Given the description of an element on the screen output the (x, y) to click on. 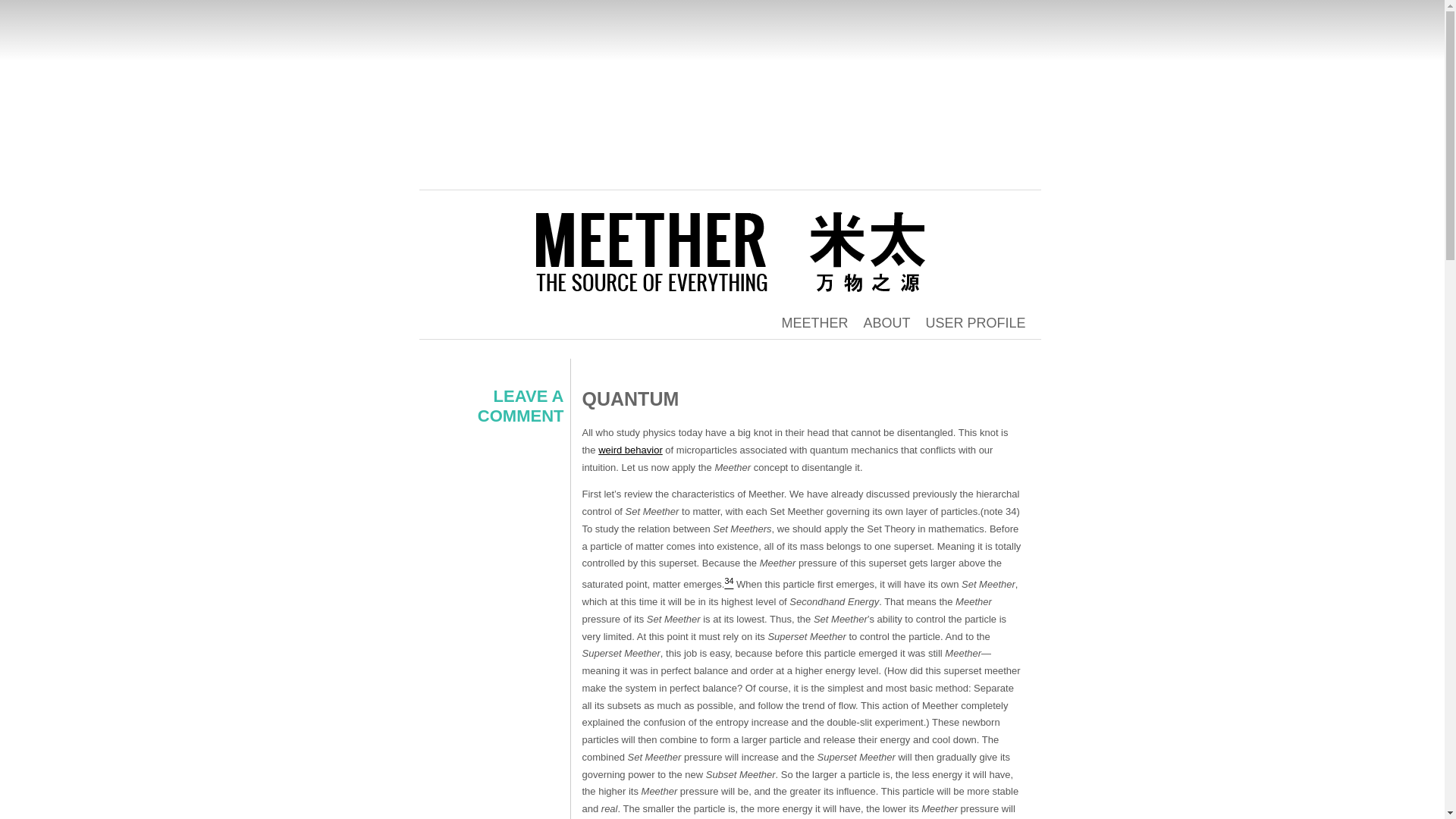
MEETHER (813, 322)
MEETHER (569, 87)
Meether (569, 87)
ABOUT (886, 322)
USER PROFILE (974, 322)
